Given the description of an element on the screen output the (x, y) to click on. 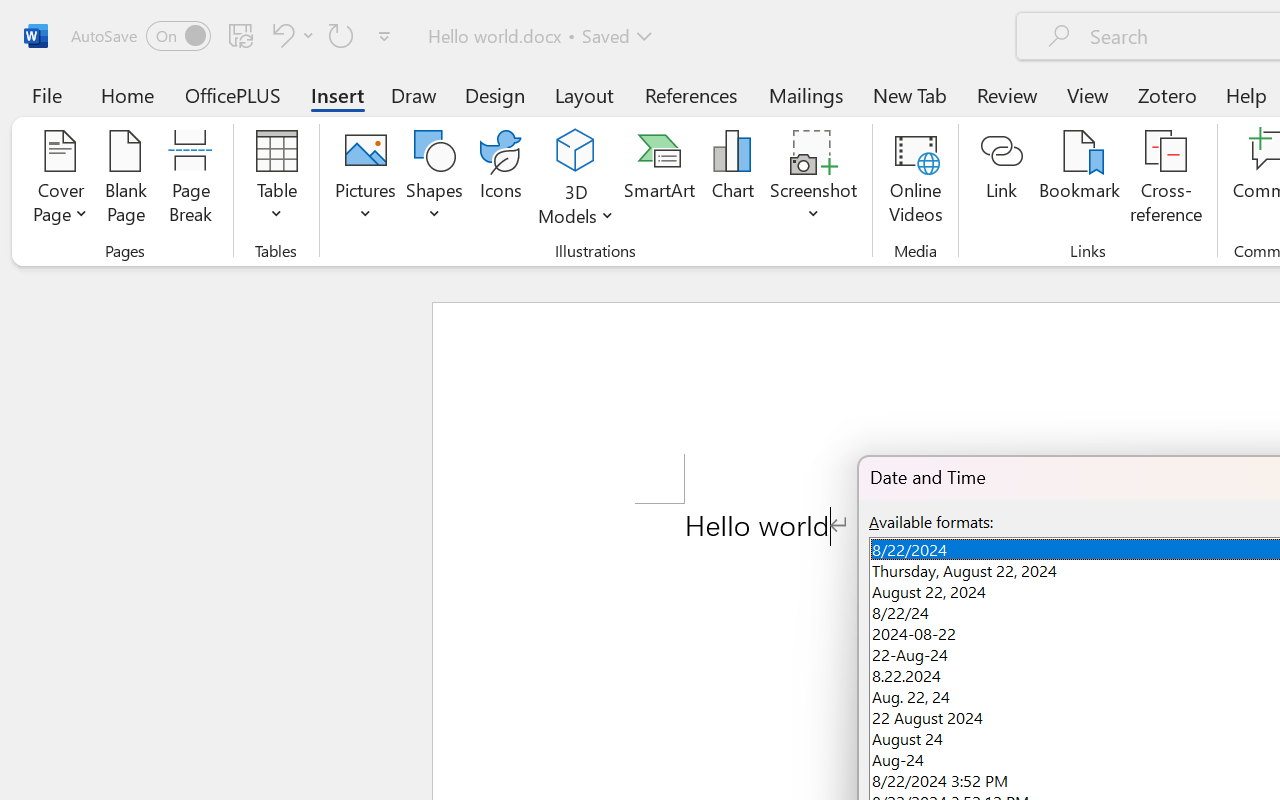
Accept Change (1051, 94)
Accept (1051, 114)
